Given the description of an element on the screen output the (x, y) to click on. 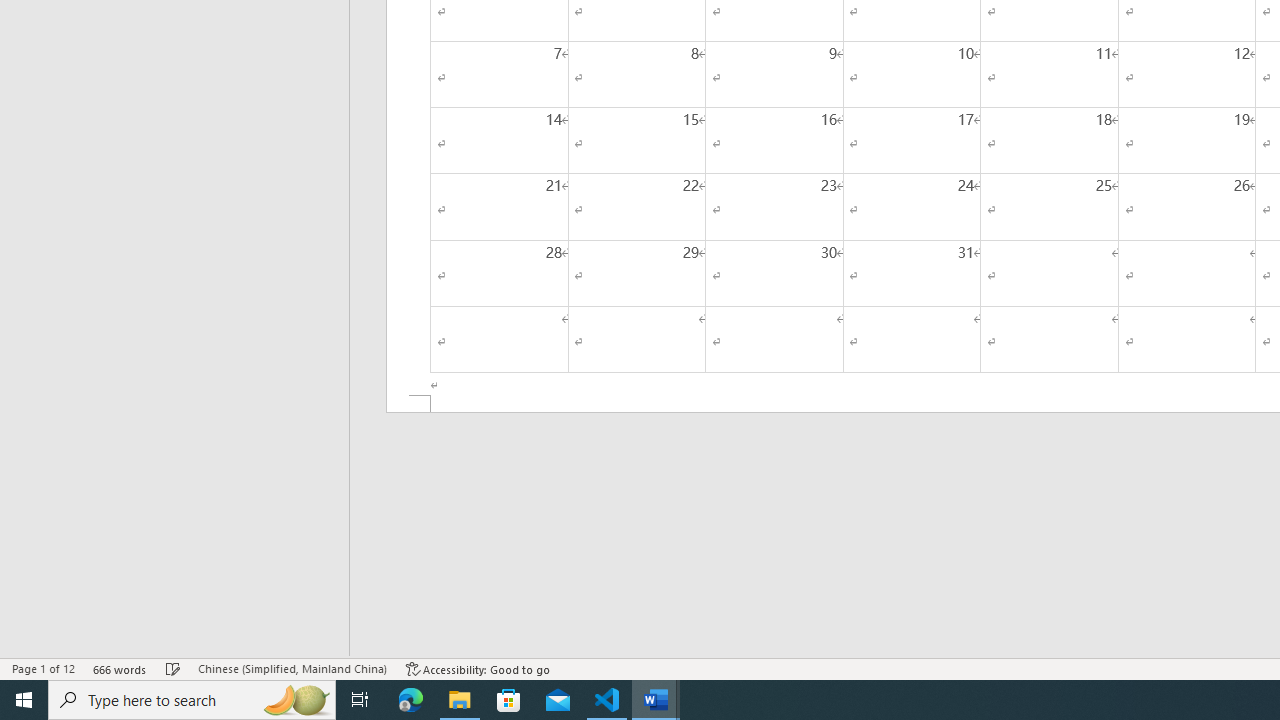
Microsoft Edge (411, 699)
